Given the description of an element on the screen output the (x, y) to click on. 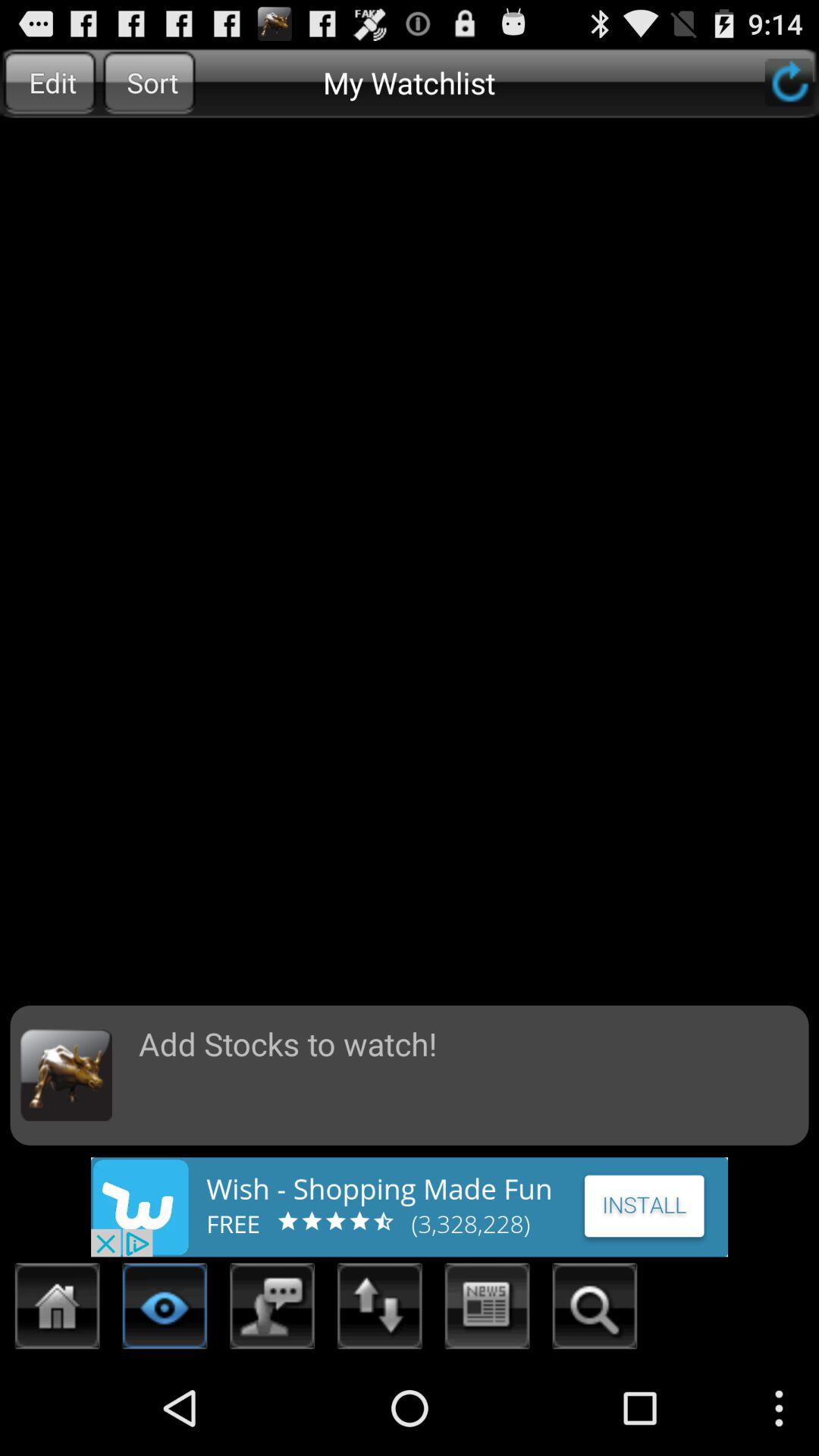
add comment (272, 1310)
